Given the description of an element on the screen output the (x, y) to click on. 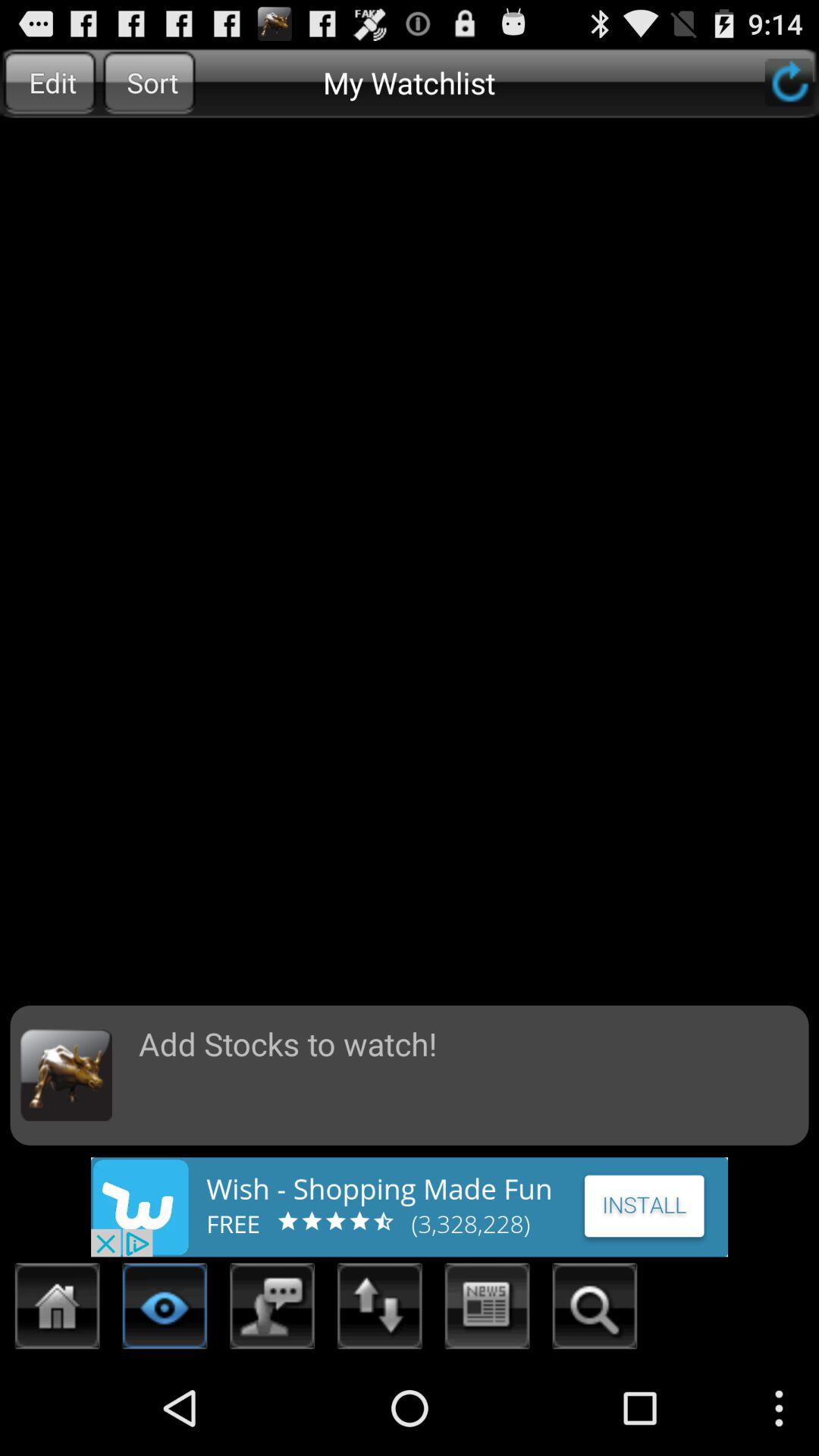
add comment (272, 1310)
